Given the description of an element on the screen output the (x, y) to click on. 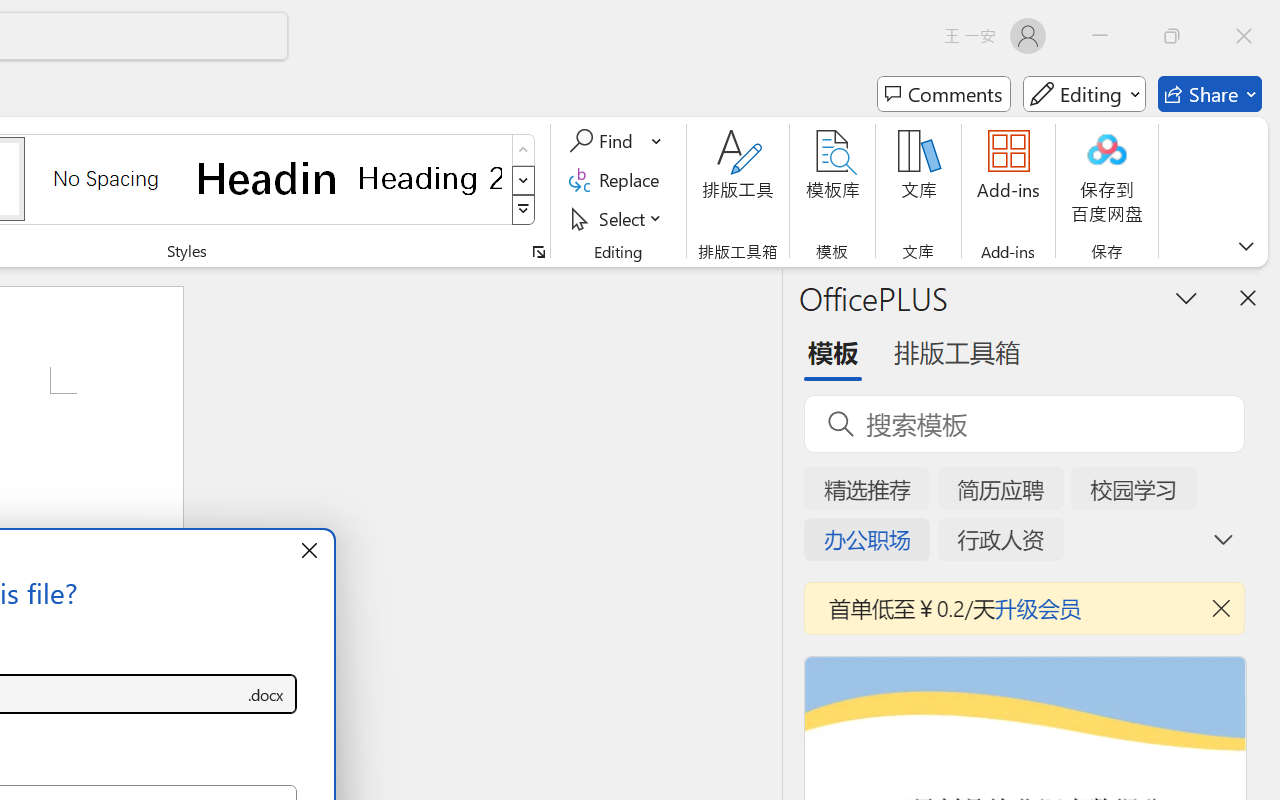
Minimize (1099, 36)
Find (616, 141)
Share (1210, 94)
Styles (523, 209)
Mode (1083, 94)
Task Pane Options (1186, 297)
Styles... (538, 252)
More Options (657, 141)
Heading 1 (267, 178)
